Given the description of an element on the screen output the (x, y) to click on. 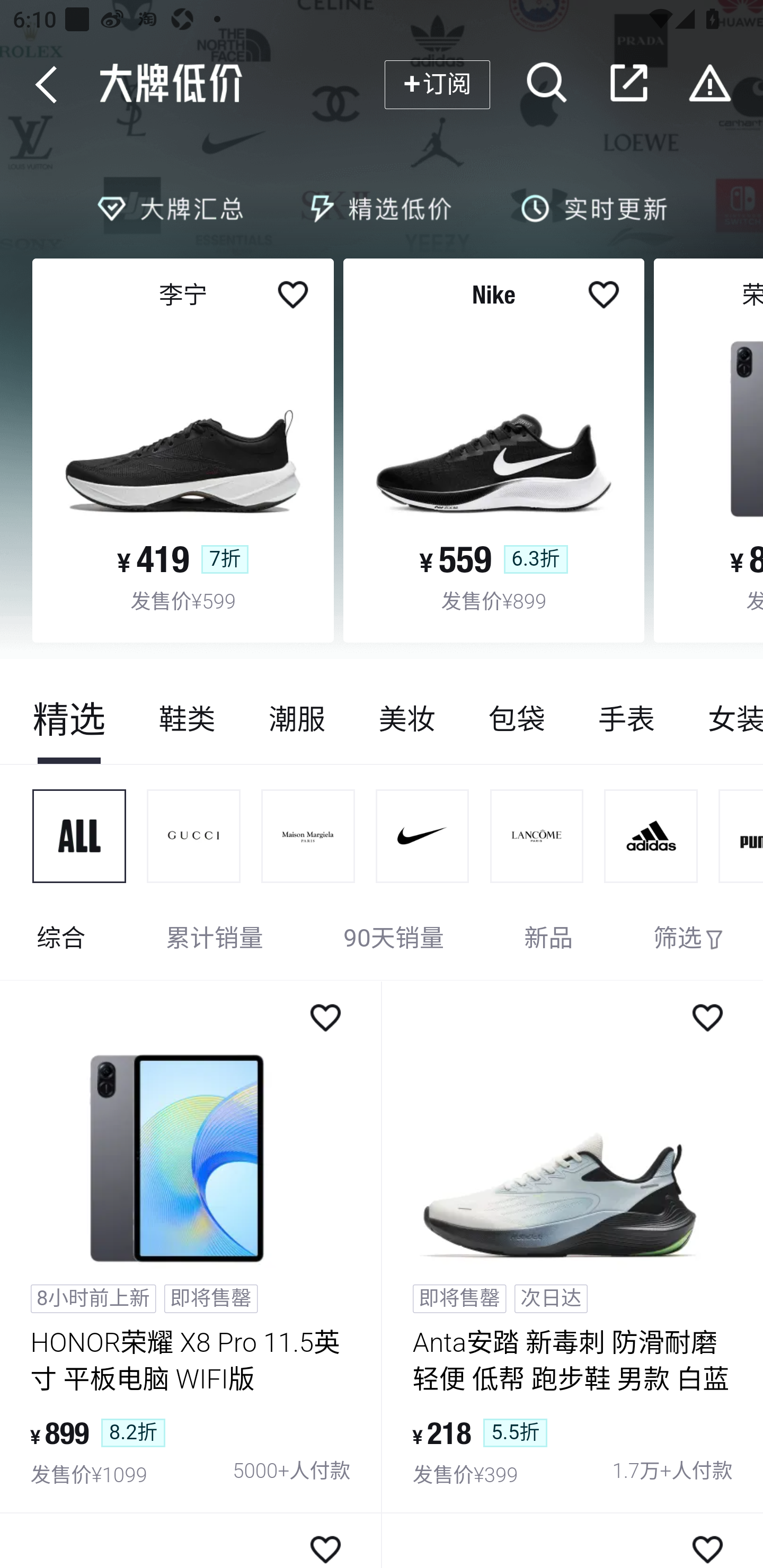
李宁 img ¥  419 7折 发售价¥599 (183, 449)
Nike img ¥  559 6.3折 发售价¥899 (493, 449)
精选 (68, 719)
鞋类 (187, 719)
潮服 (296, 719)
美妆 (406, 719)
包袋 (516, 719)
手表 (626, 719)
女装 (721, 719)
img (79, 836)
img (193, 836)
img (308, 836)
img (422, 836)
img (537, 836)
img (651, 836)
综合 (60, 939)
累计销量 (214, 939)
90天销量 (393, 939)
新品 (547, 939)
筛选 resize,w_750 (688, 939)
